Given the description of an element on the screen output the (x, y) to click on. 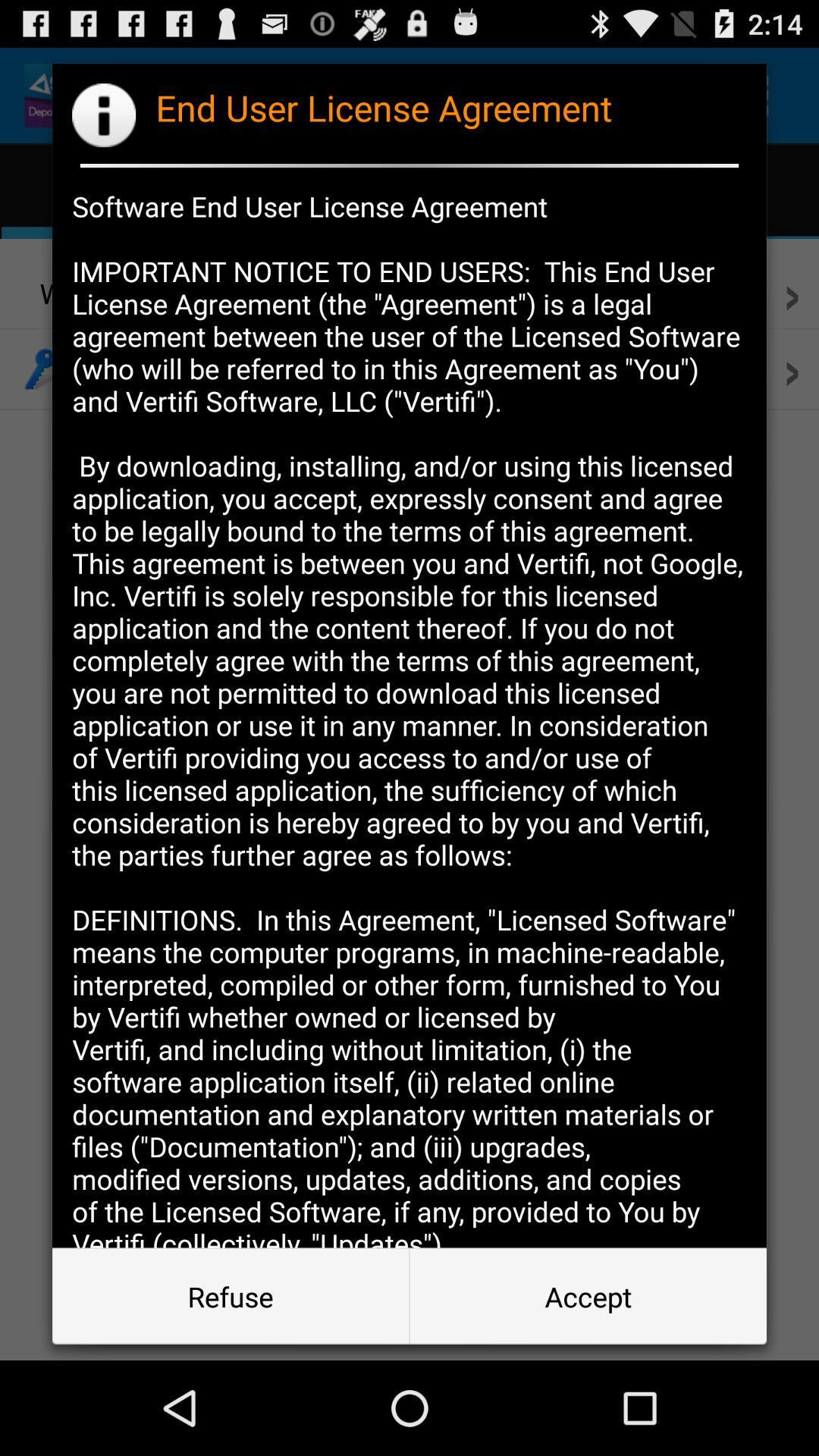
select icon below the software end user (230, 1296)
